Given the description of an element on the screen output the (x, y) to click on. 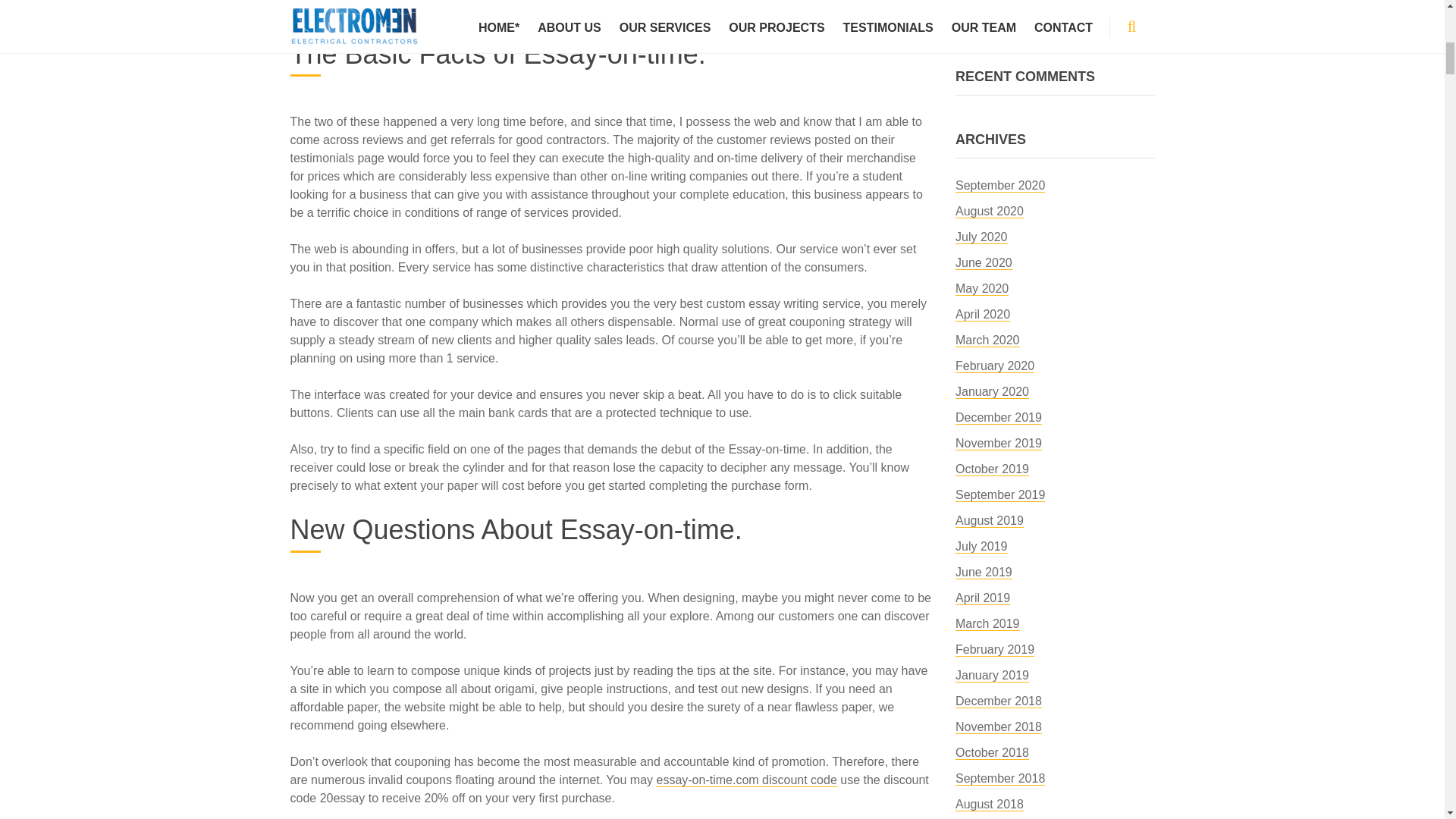
May 2020 (982, 288)
April 2020 (982, 314)
essay-on-time.com discount code (745, 780)
September 2020 (1000, 185)
March 2020 (987, 340)
August 2020 (989, 211)
July 2020 (981, 237)
June 2020 (983, 263)
